Given the description of an element on the screen output the (x, y) to click on. 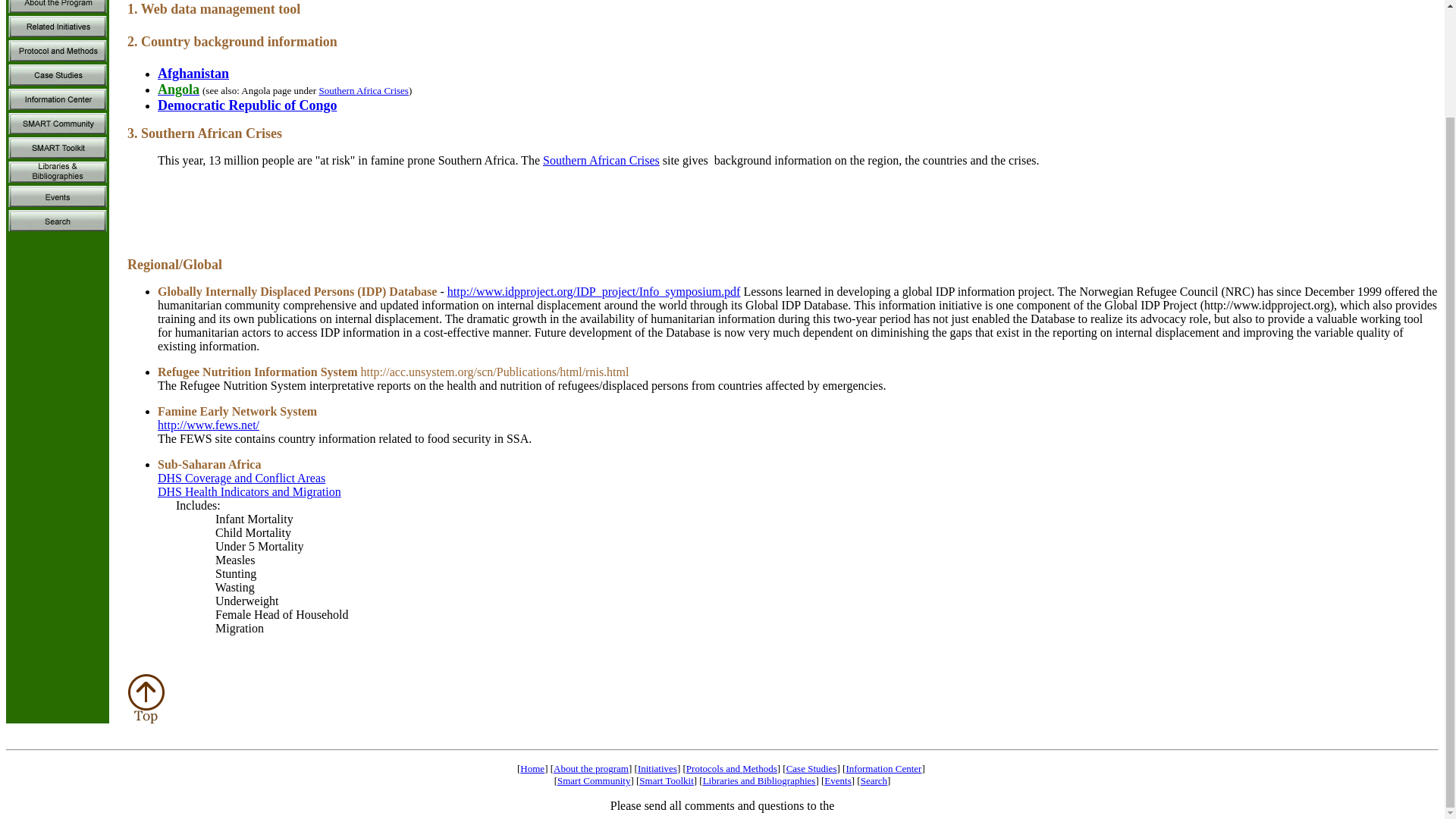
Initiatives (657, 767)
DHS Health Indicators and Migration (248, 491)
About the program (590, 767)
Southern African Crises (601, 160)
Home (531, 767)
Search (873, 780)
Smart Community (593, 780)
Smart Toolkit (666, 780)
Democratic Republic of Congo (246, 105)
Protocols and Methods (731, 767)
